Given the description of an element on the screen output the (x, y) to click on. 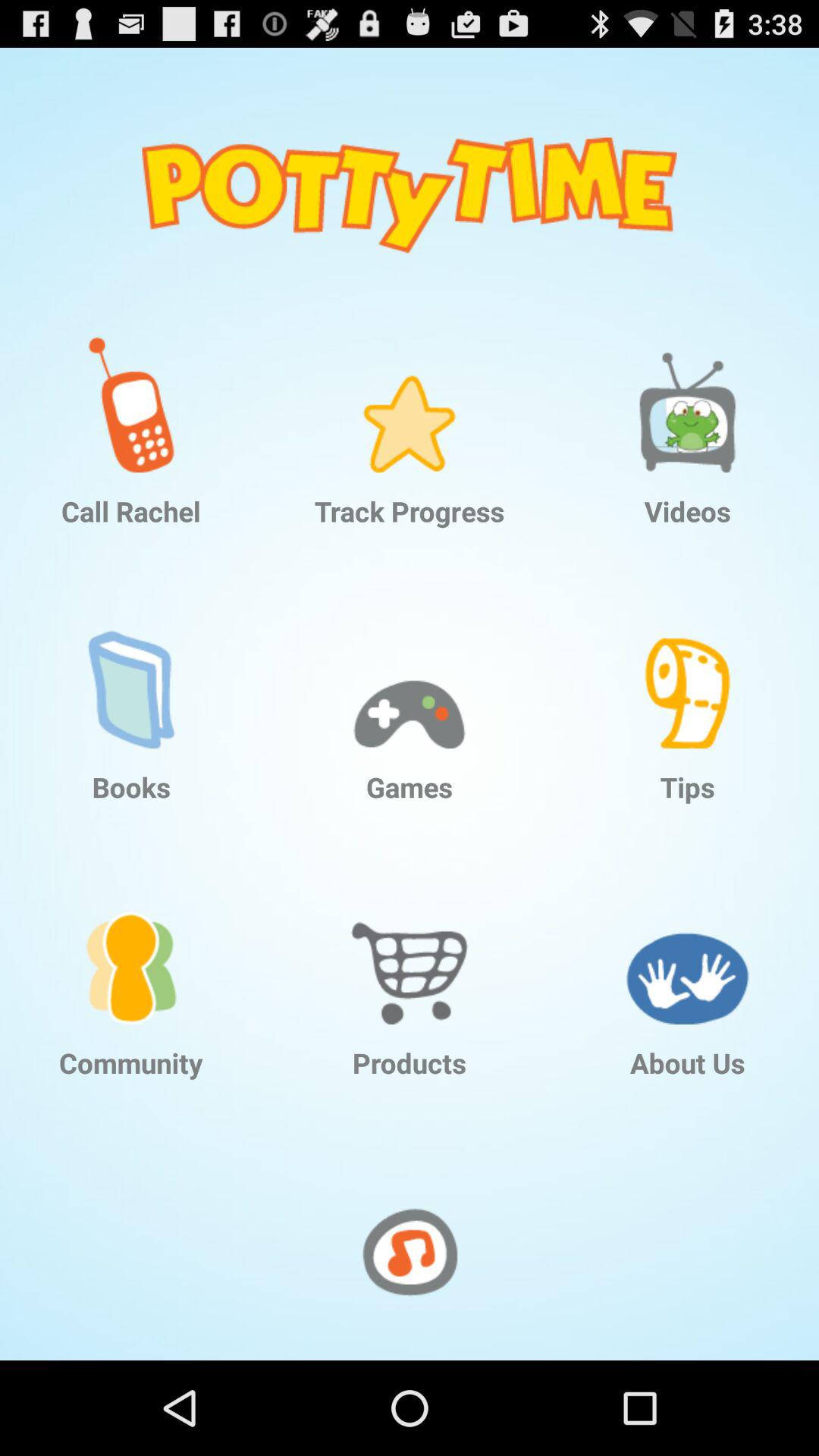
select icon above the community icon (131, 944)
